Given the description of an element on the screen output the (x, y) to click on. 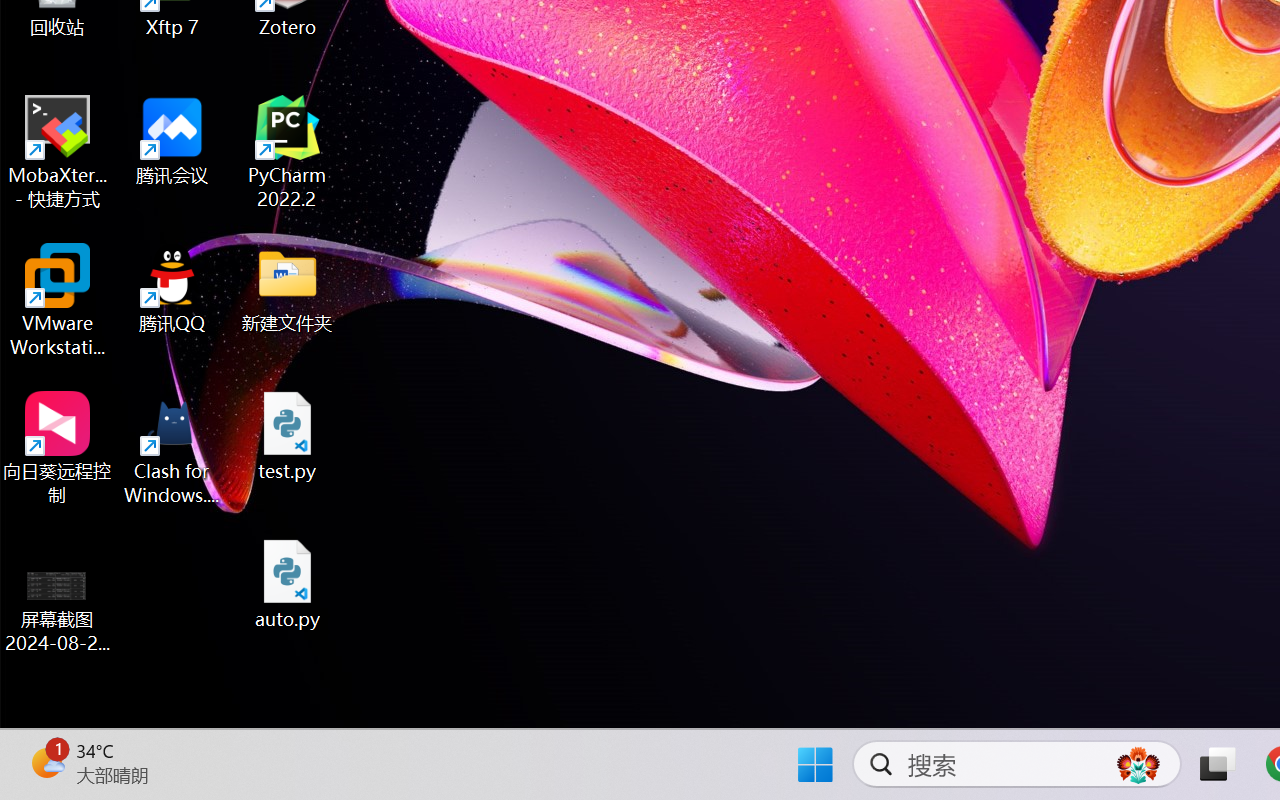
test.py (287, 436)
auto.py (287, 584)
PyCharm 2022.2 (287, 152)
